Given the description of an element on the screen output the (x, y) to click on. 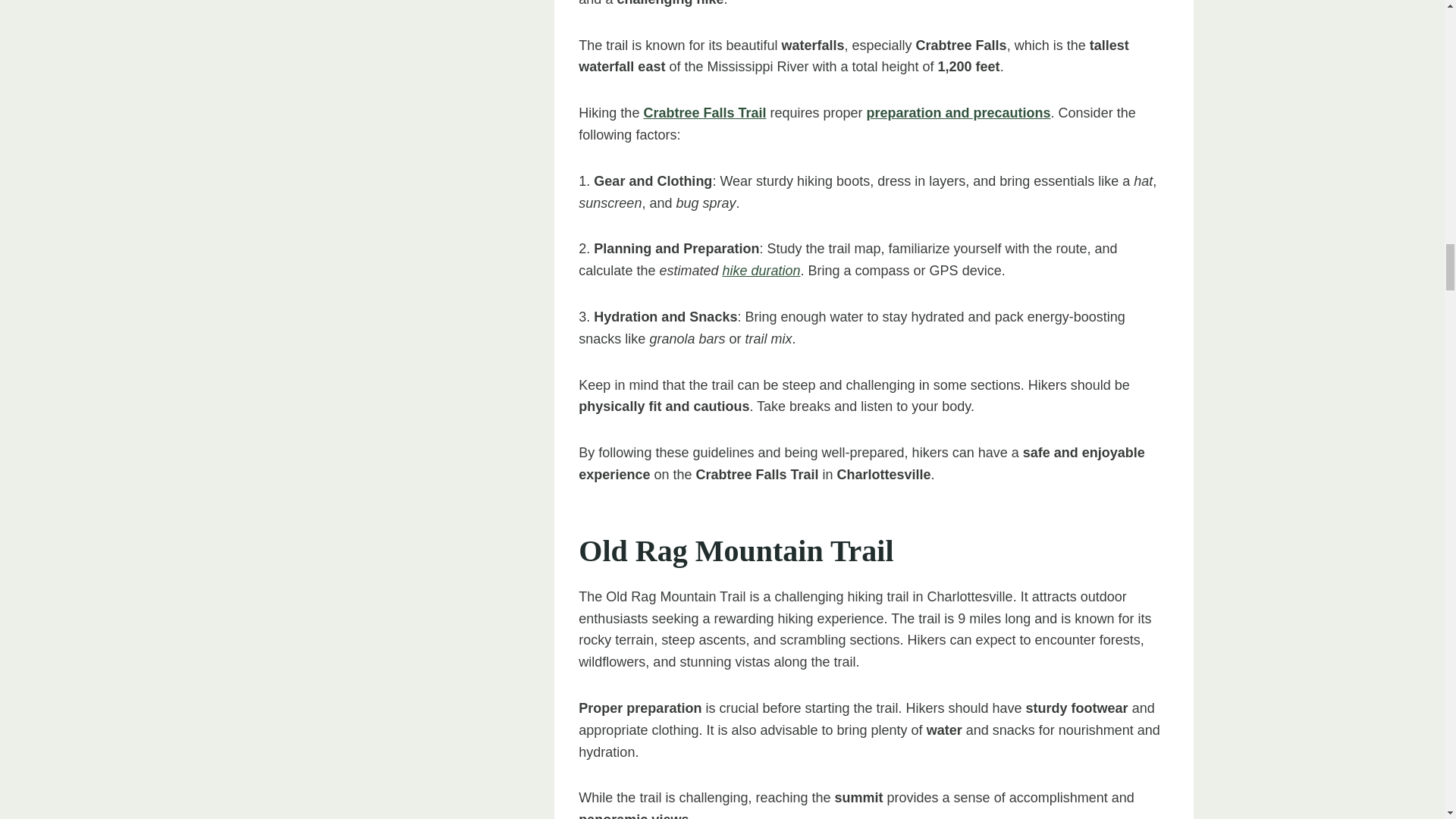
hike duration (760, 270)
Crabtree Falls Trail (704, 112)
preparation and precautions (958, 112)
